Given the description of an element on the screen output the (x, y) to click on. 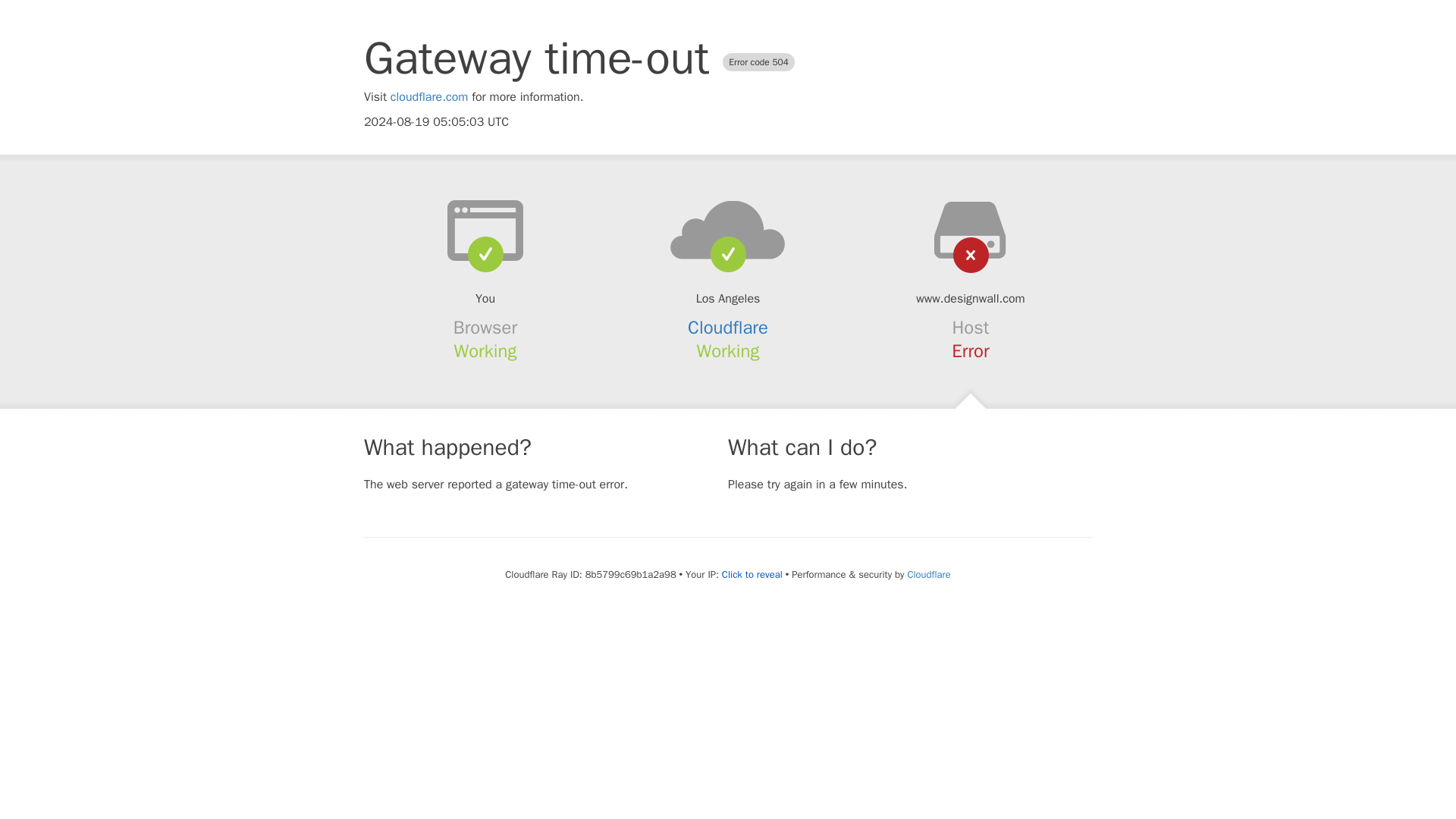
Click to reveal (752, 574)
Cloudflare (727, 327)
Cloudflare (928, 574)
cloudflare.com (429, 96)
